Given the description of an element on the screen output the (x, y) to click on. 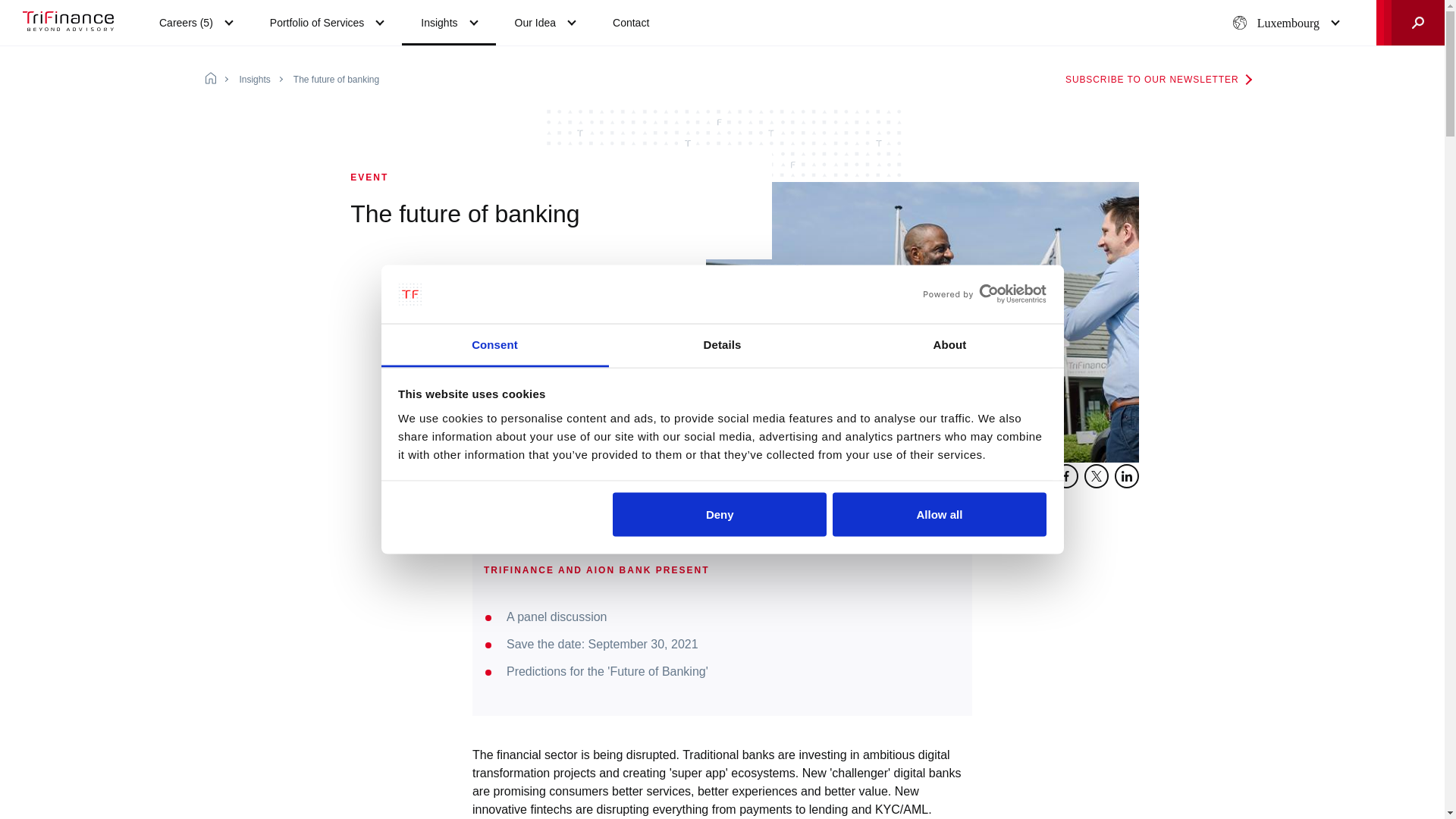
Details (721, 344)
About (948, 344)
Consent (494, 344)
